Given the description of an element on the screen output the (x, y) to click on. 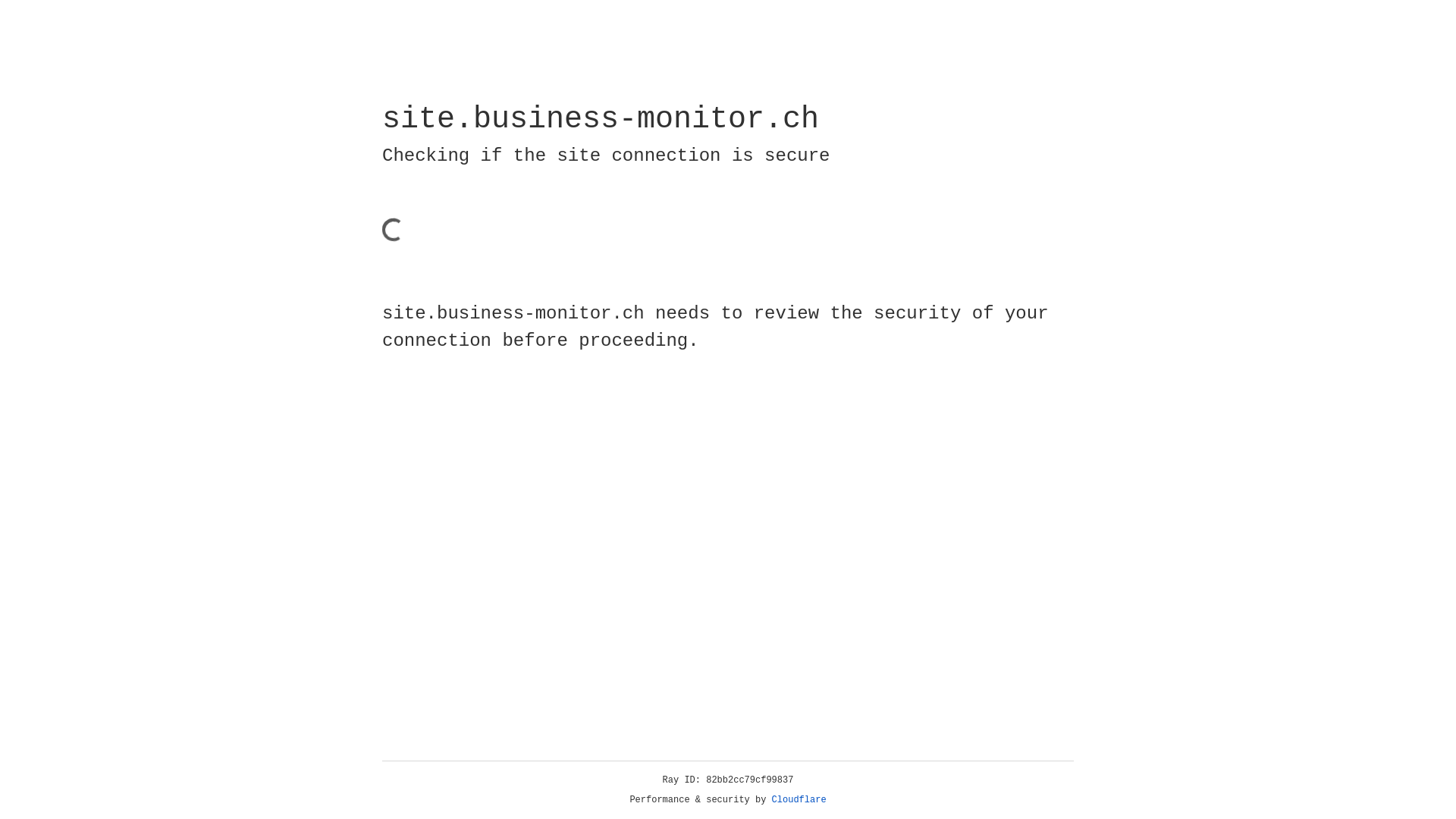
Cloudflare Element type: text (798, 799)
